Given the description of an element on the screen output the (x, y) to click on. 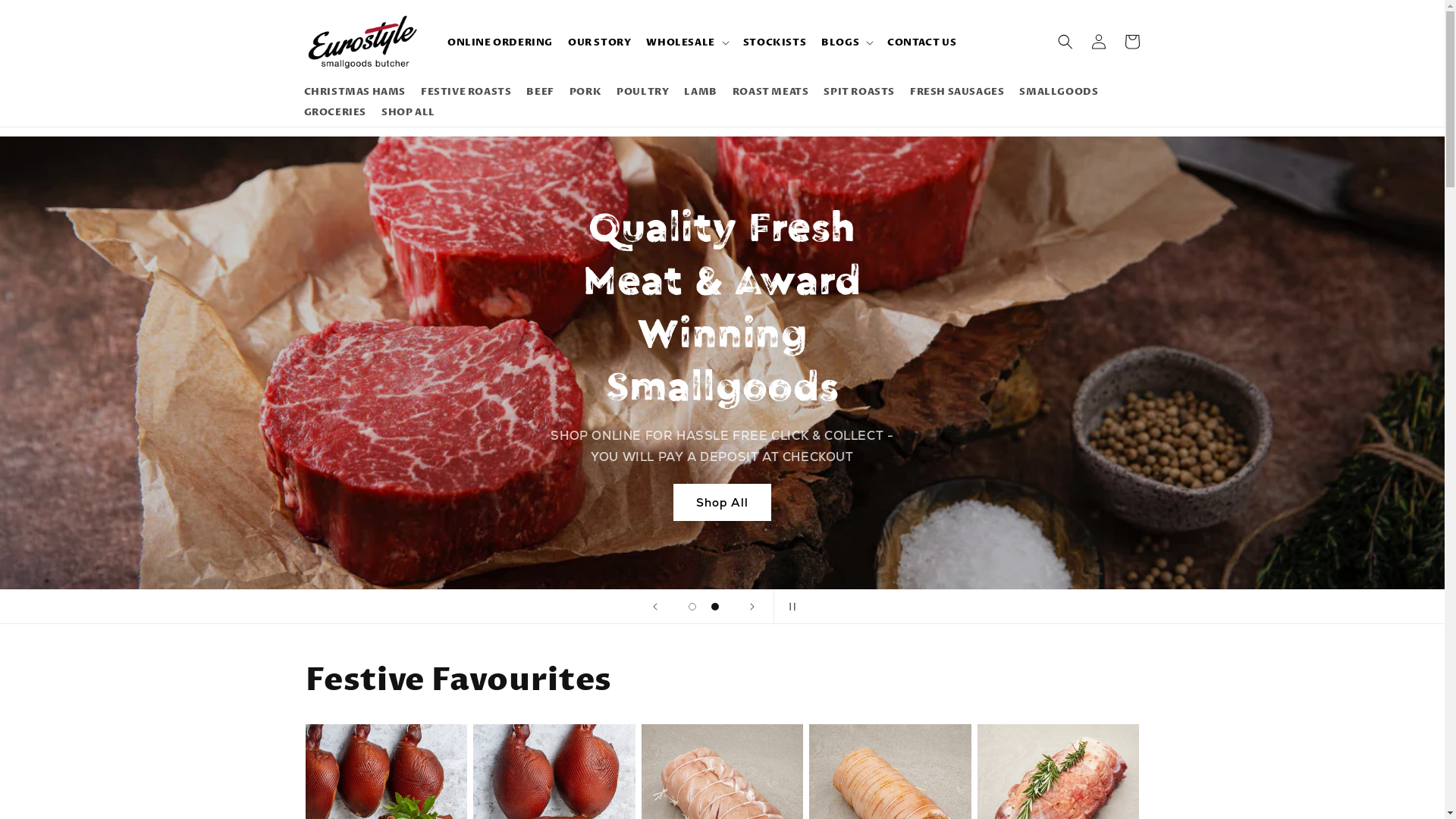
SMALLGOODS Element type: text (1058, 91)
POULTRY Element type: text (642, 91)
PORK Element type: text (584, 91)
Cart Element type: text (1131, 41)
ROAST MEATS Element type: text (770, 91)
Shop All Element type: text (722, 501)
BEEF Element type: text (539, 91)
GROCERIES Element type: text (334, 112)
CHRISTMAS HAMS Element type: text (353, 91)
SHOP ALL Element type: text (407, 112)
FRESH SAUSAGES Element type: text (956, 91)
CONTACT US Element type: text (921, 42)
Log in Element type: text (1097, 41)
SPIT ROASTS Element type: text (858, 91)
ONLINE ORDERING Element type: text (499, 42)
LAMB Element type: text (700, 91)
OUR STORY Element type: text (599, 42)
FESTIVE ROASTS Element type: text (465, 91)
STOCKISTS Element type: text (774, 42)
